Given the description of an element on the screen output the (x, y) to click on. 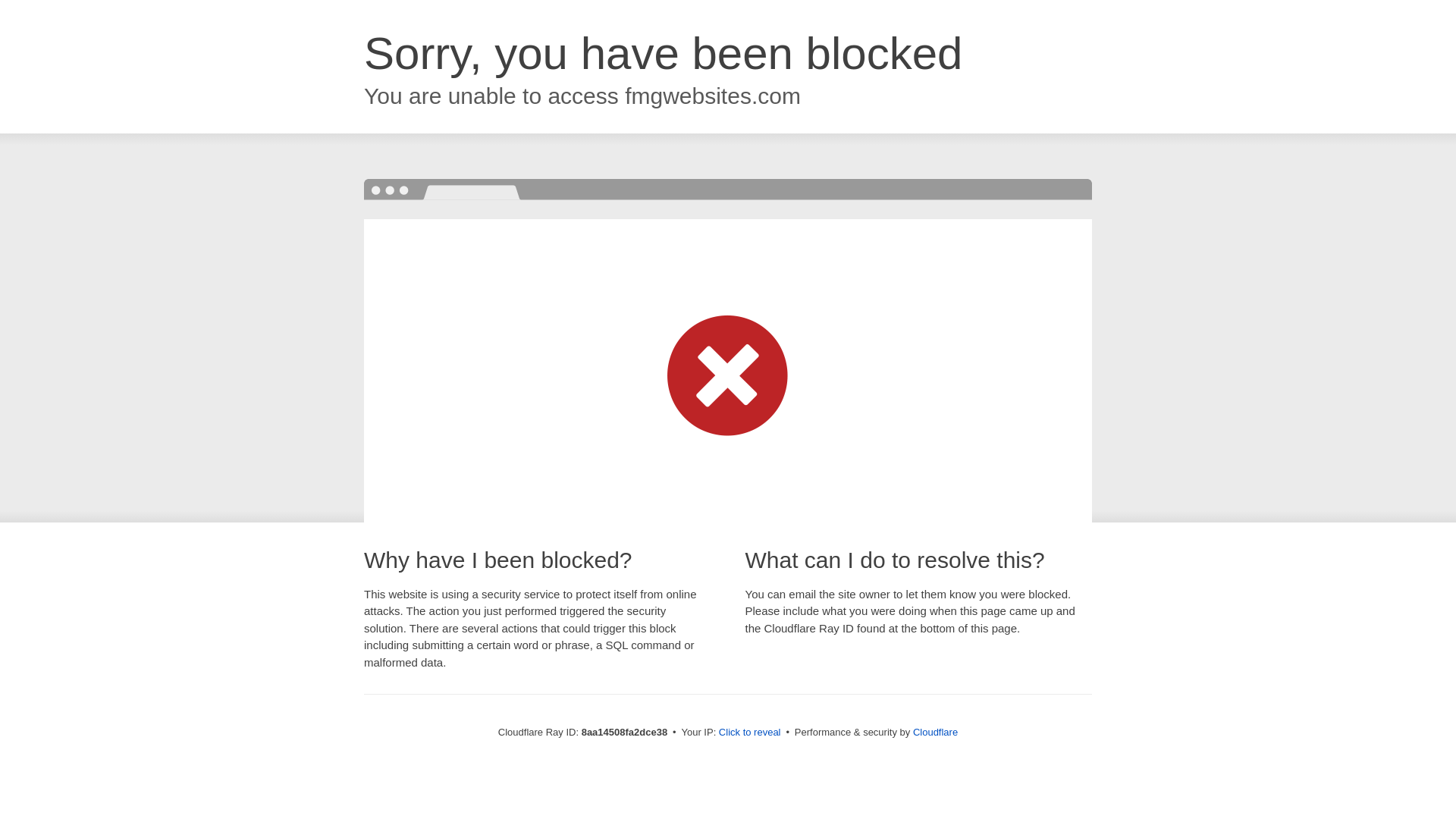
Cloudflare (935, 731)
Click to reveal (749, 732)
